Given the description of an element on the screen output the (x, y) to click on. 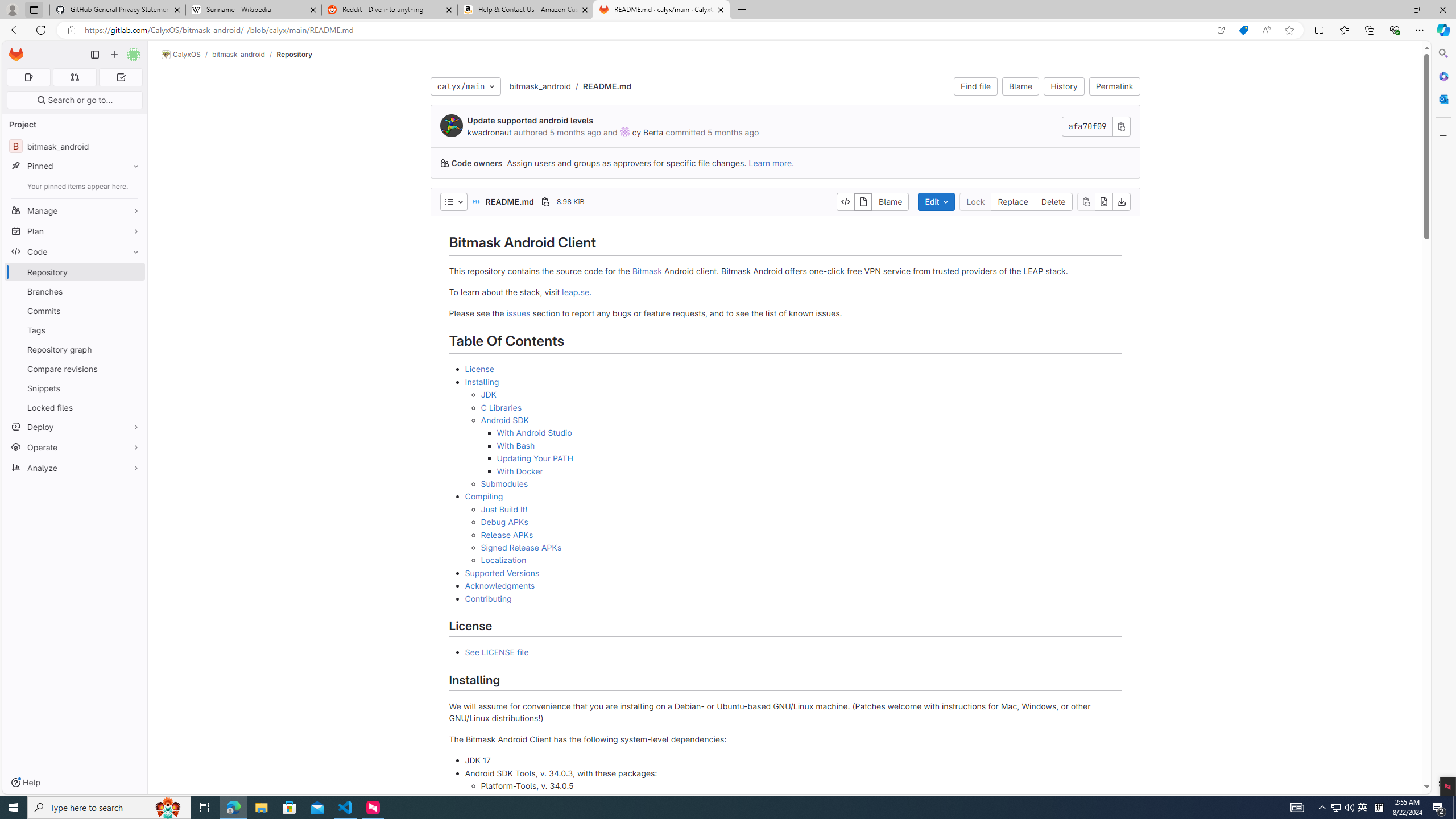
Pin Commits (132, 310)
Merge requests 0 (74, 76)
Signed Release APKs (521, 547)
Repository (294, 53)
Deploy (74, 426)
Branches (74, 290)
Updating Your PATH (808, 458)
JDK 17 (792, 760)
Analyze (74, 467)
Class: s16 gl-icon gl-button-icon  (1120, 126)
